Given the description of an element on the screen output the (x, y) to click on. 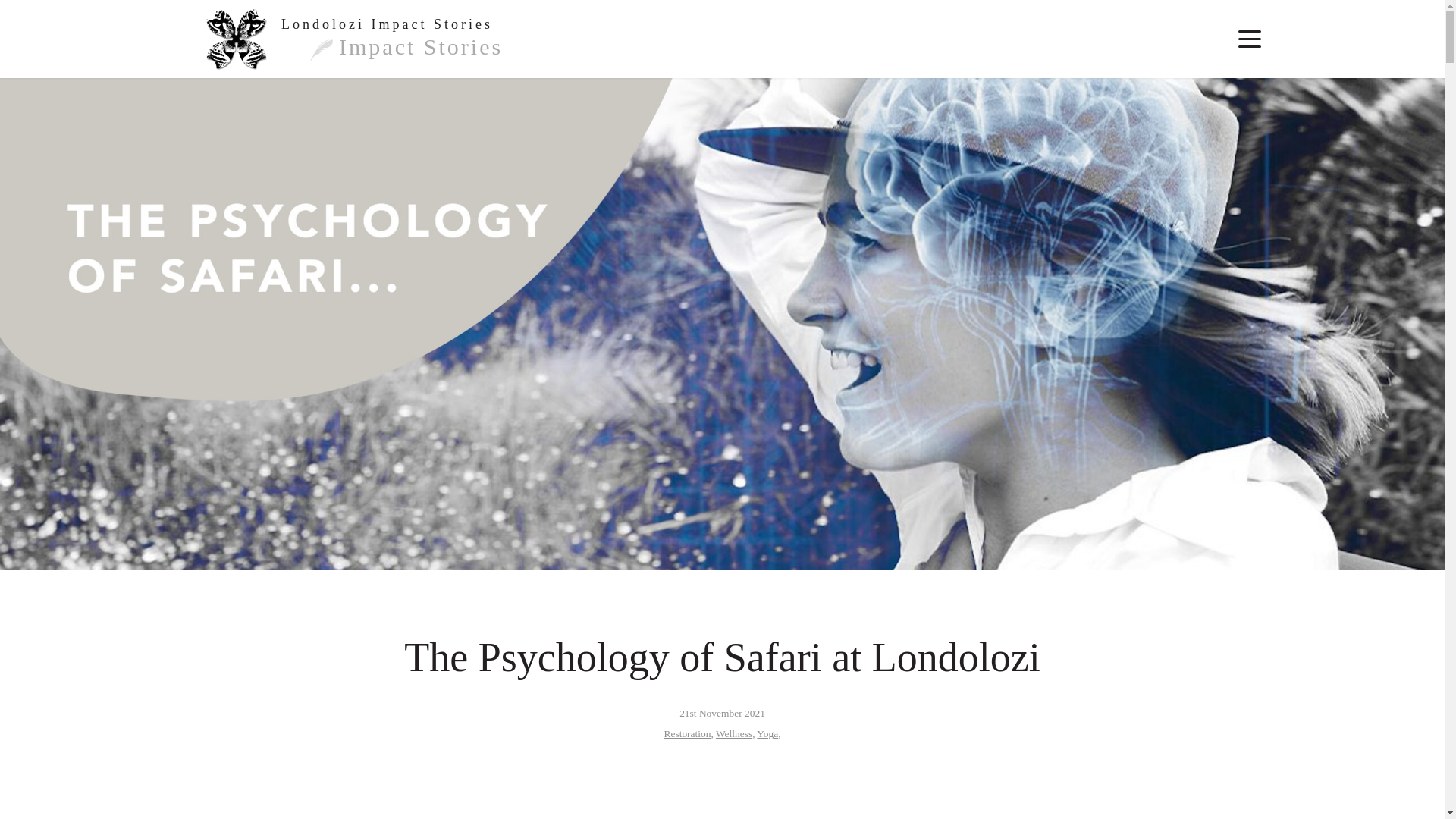
Restoration (687, 733)
Wellness (734, 733)
Yoga (767, 733)
